Given the description of an element on the screen output the (x, y) to click on. 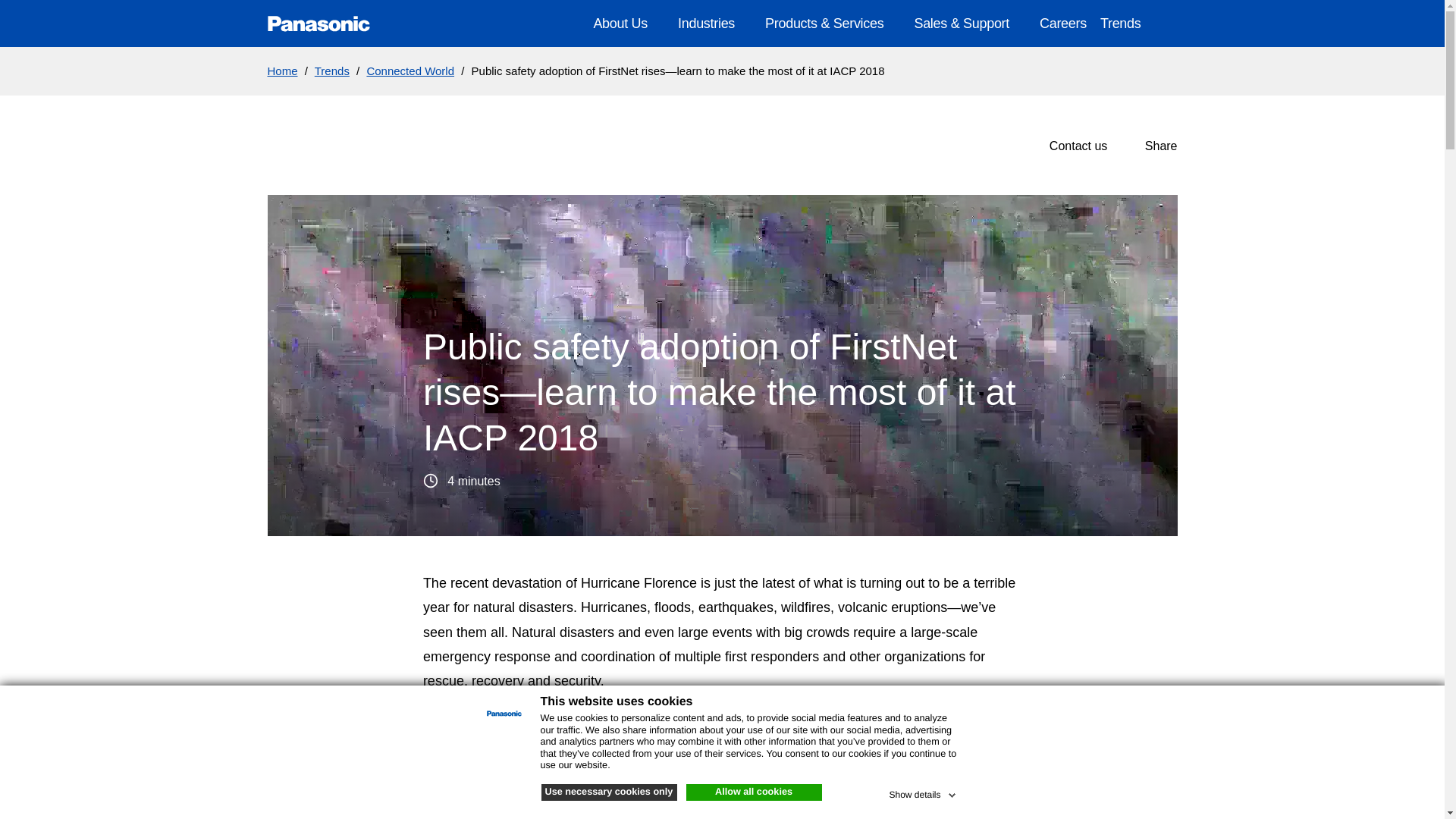
Show details (923, 791)
Allow all cookies (753, 791)
Use necessary cookies only (609, 791)
